Given the description of an element on the screen output the (x, y) to click on. 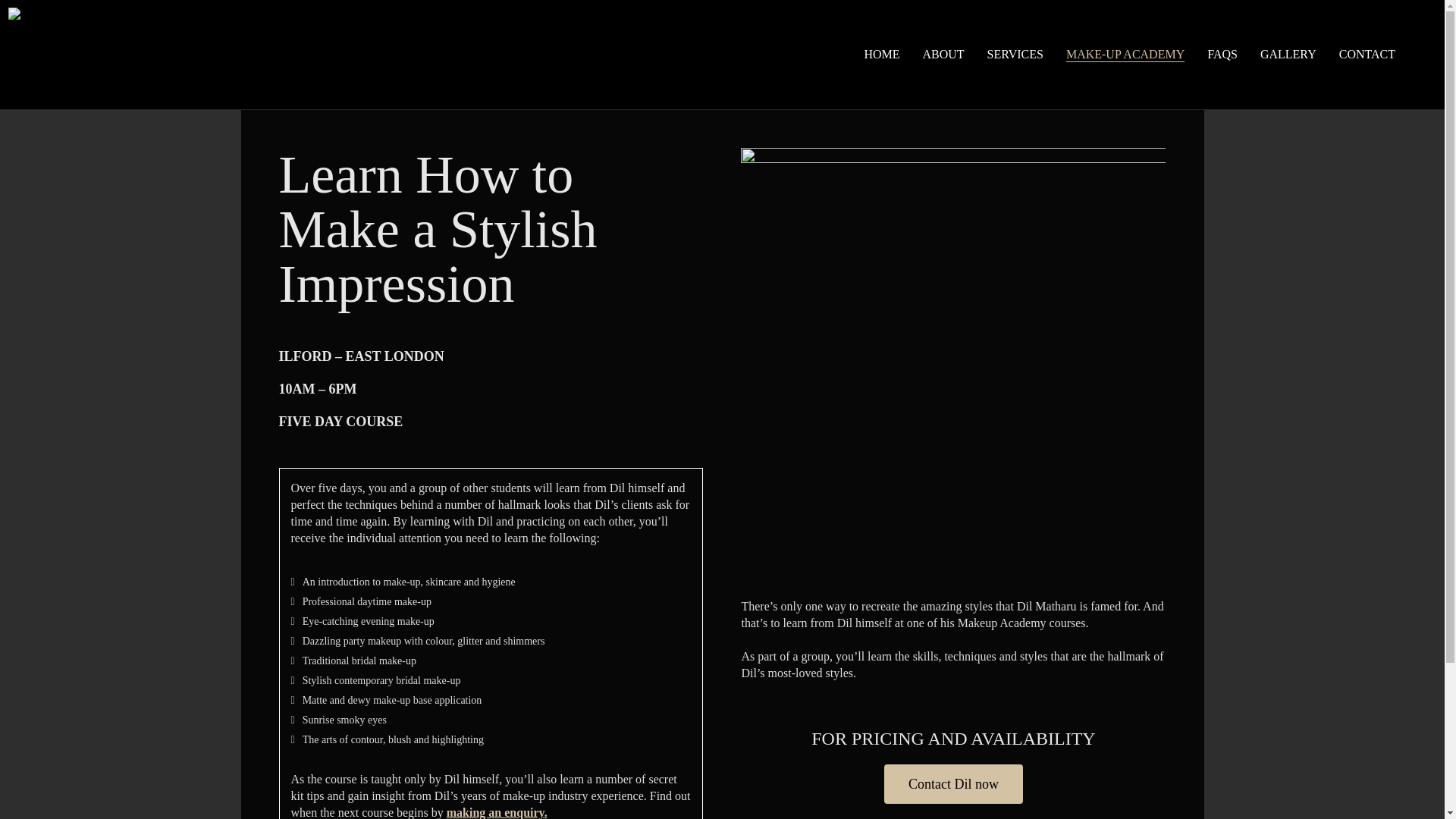
MAKE-UP ACADEMY (1125, 54)
GALLERY (1288, 54)
CONTACT (1366, 54)
ABOUT (942, 54)
SERVICES (1015, 54)
HOME (881, 54)
